Given the description of an element on the screen output the (x, y) to click on. 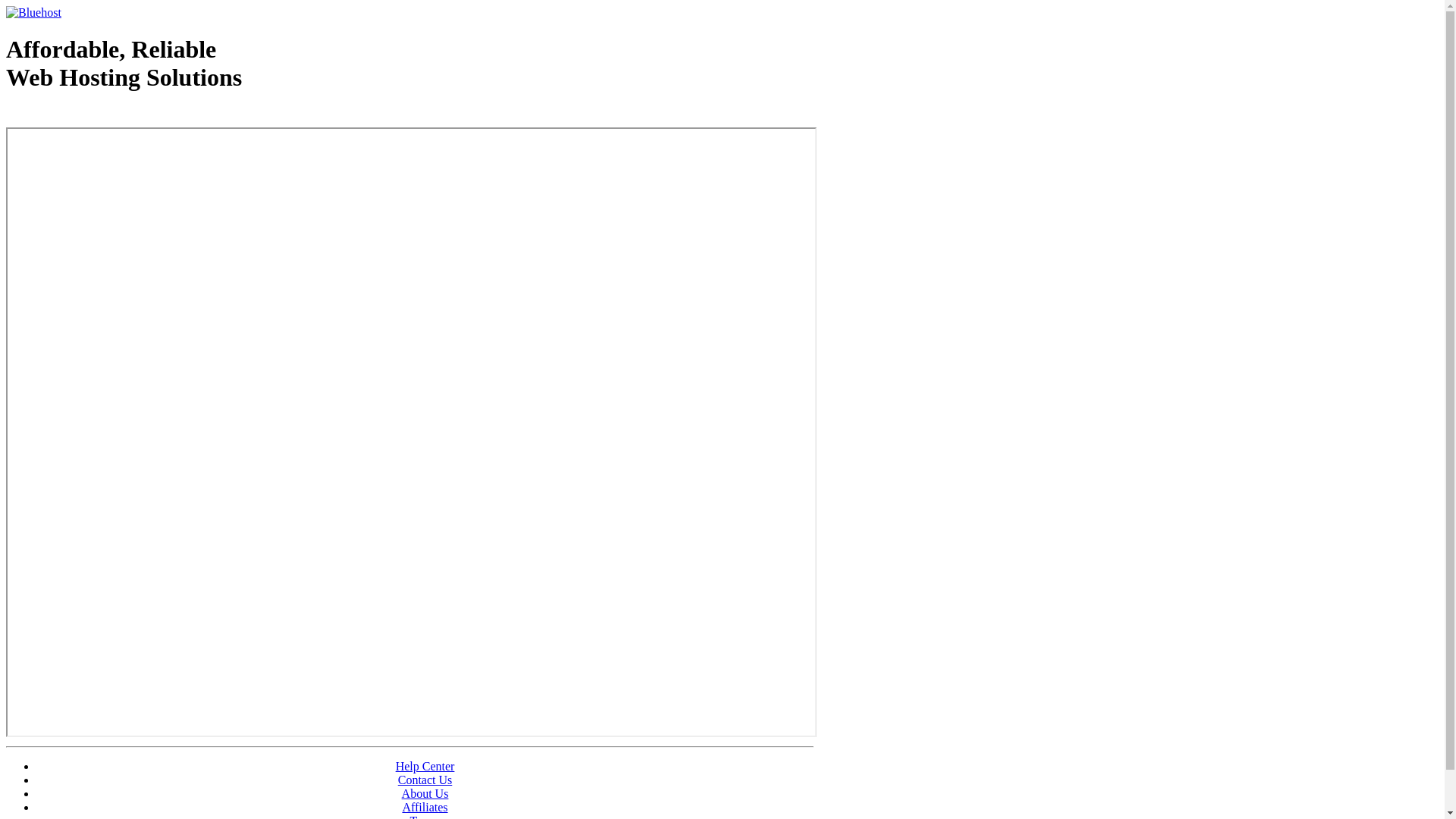
About Us Element type: text (424, 793)
Contact Us Element type: text (425, 779)
Help Center Element type: text (425, 765)
Web Hosting - courtesy of www.bluehost.com Element type: text (94, 115)
Affiliates Element type: text (424, 806)
